Given the description of an element on the screen output the (x, y) to click on. 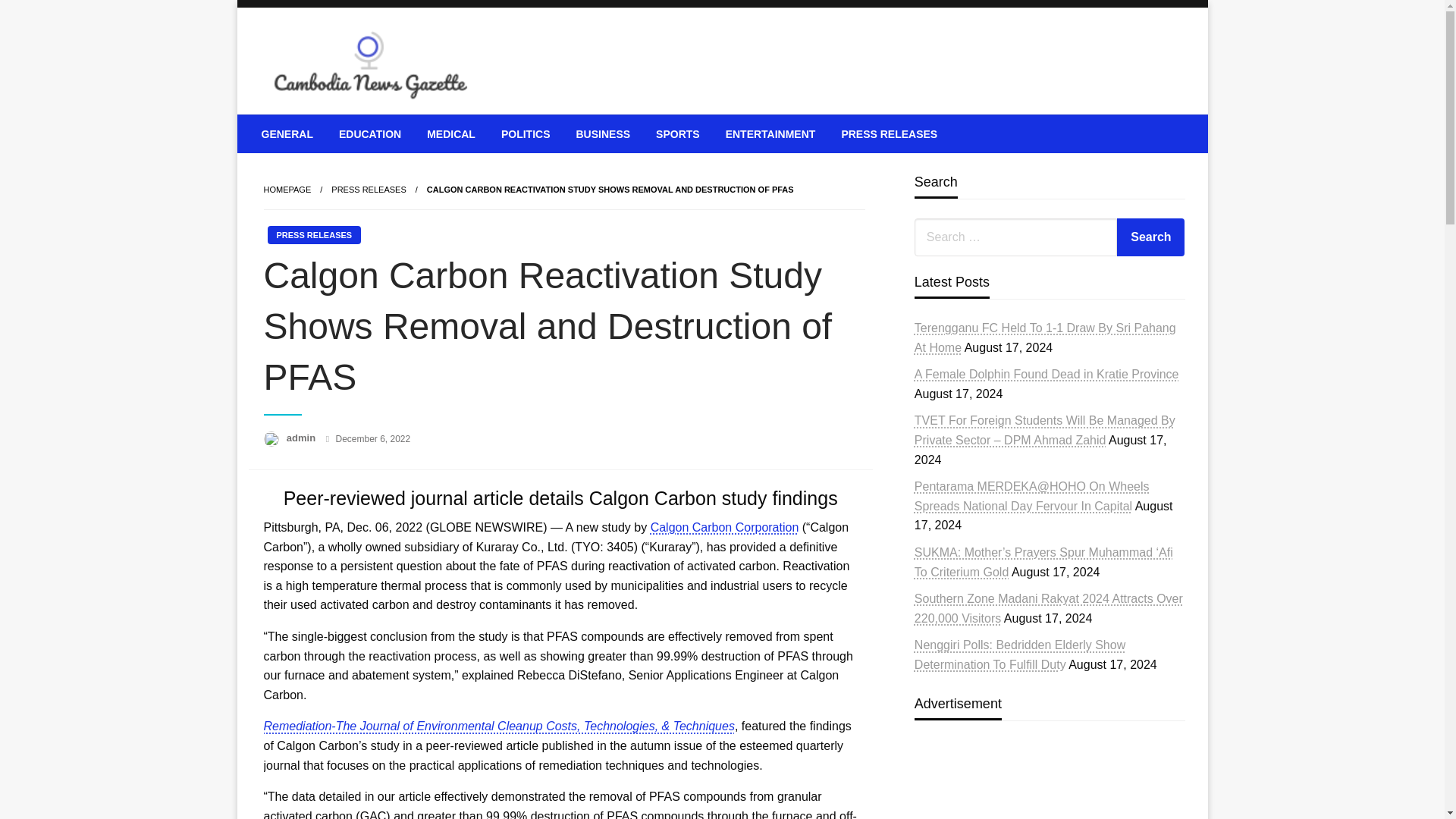
MEDICAL (450, 134)
GENERAL (287, 134)
ENTERTAINMENT (770, 134)
December 6, 2022 (372, 439)
BUSINESS (602, 134)
Homepage (287, 189)
PRESS RELEASES (368, 189)
admin (302, 437)
admin (302, 437)
PRESS RELEASES (889, 134)
